Given the description of an element on the screen output the (x, y) to click on. 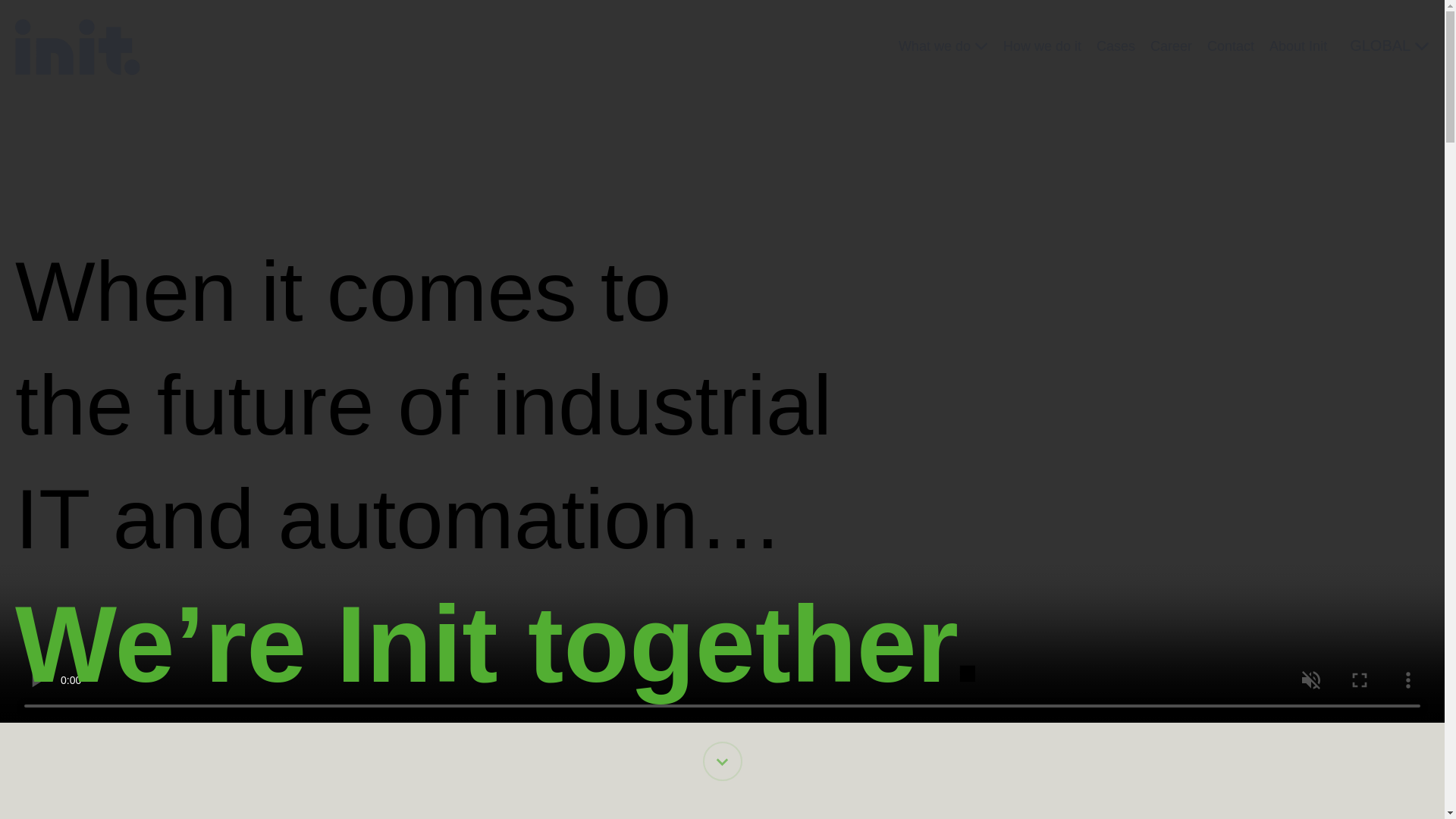
How we do it (1042, 45)
Contact (1230, 45)
Career (1171, 45)
About Init (1297, 45)
Cases (1115, 45)
